Given the description of an element on the screen output the (x, y) to click on. 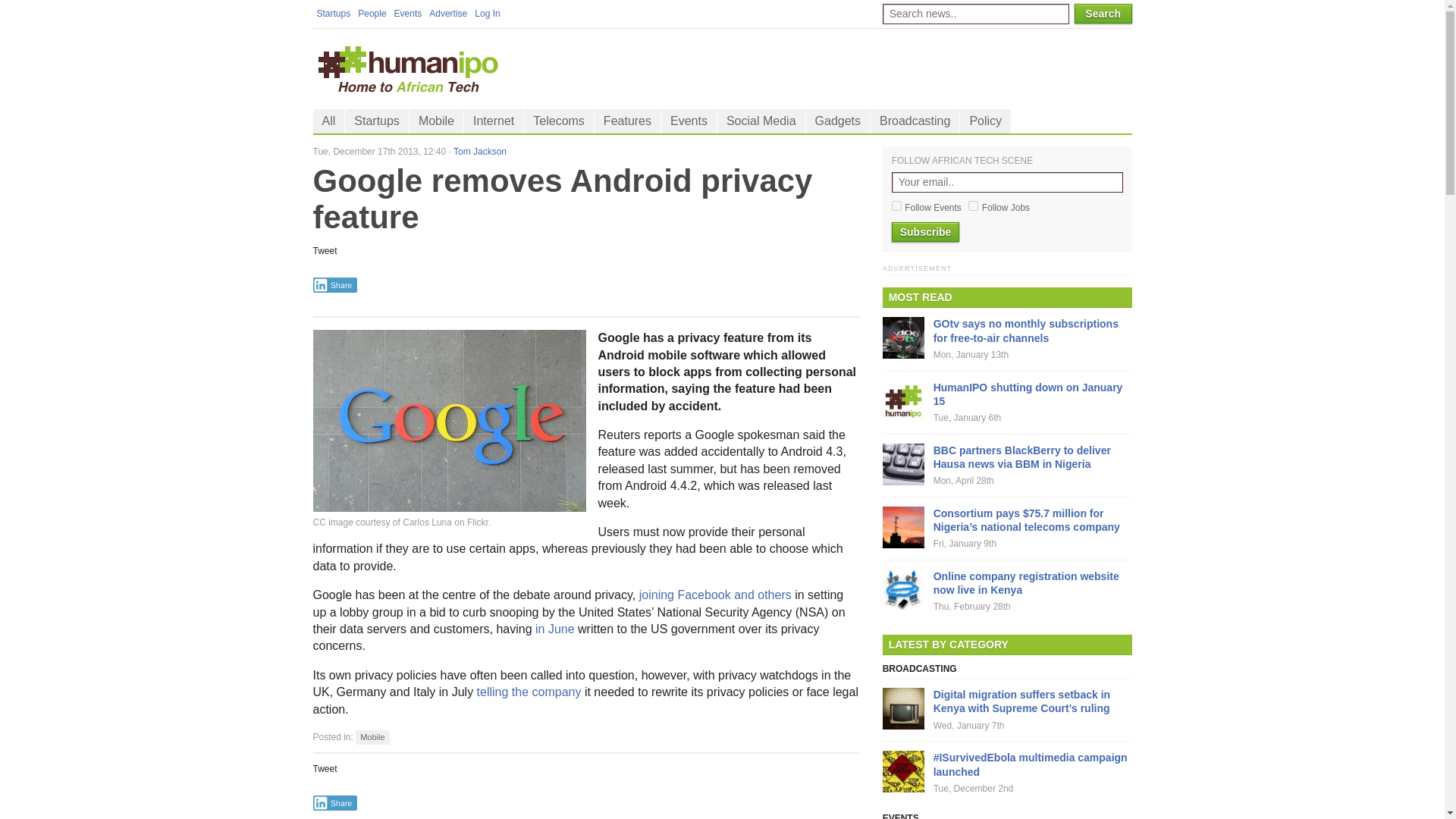
Events (408, 14)
in June (555, 628)
Mobile (371, 737)
Internet (493, 120)
Social Media (761, 120)
Tom Jackson (479, 151)
All news (328, 120)
Mobile (371, 737)
Startups (377, 120)
Startups (333, 14)
Share (334, 284)
Advertise (447, 14)
Broadcasting (914, 120)
Features (627, 120)
Search (1103, 13)
